Given the description of an element on the screen output the (x, y) to click on. 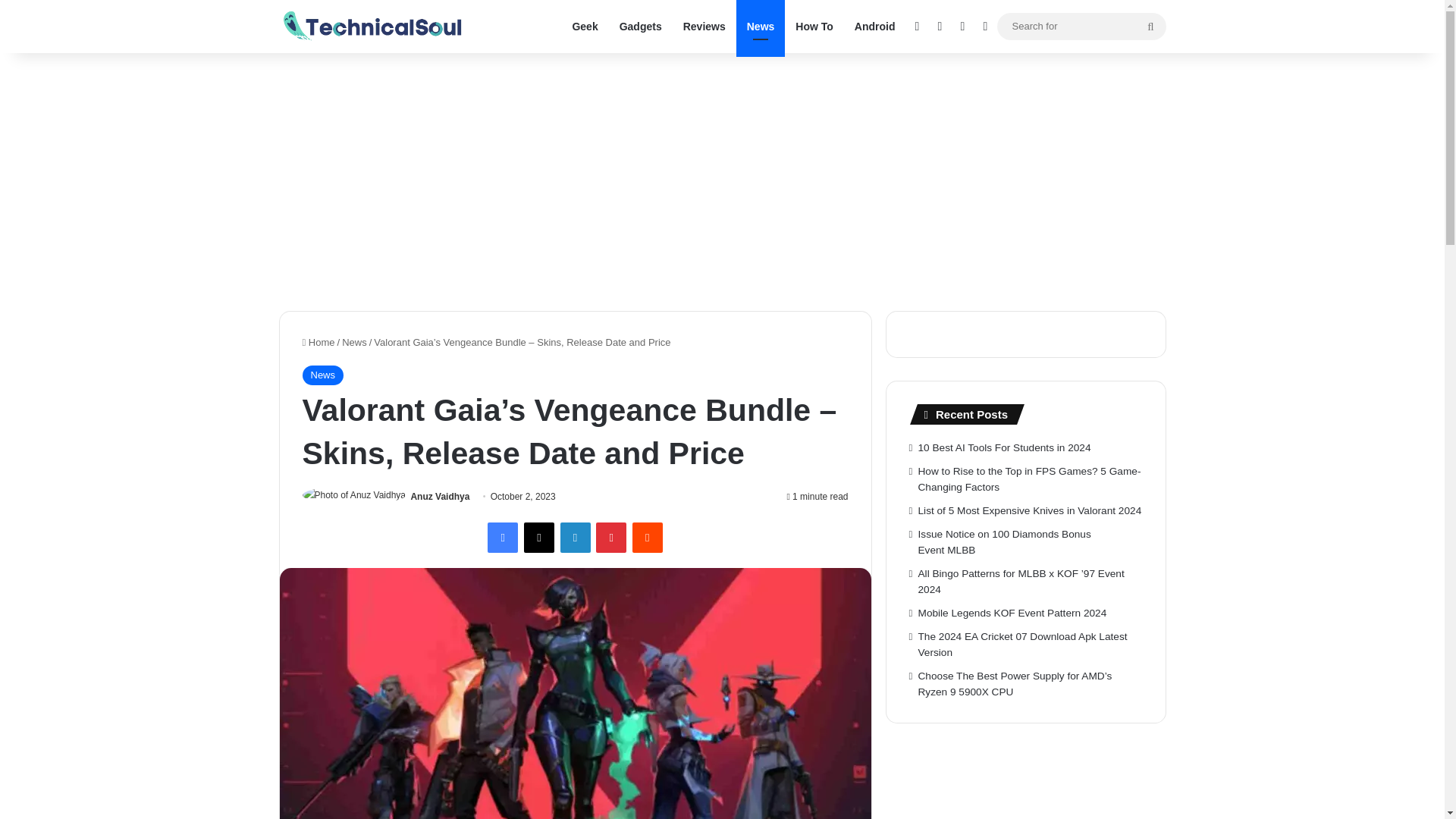
Anuz Vaidhya (439, 496)
X (539, 537)
News (322, 374)
Search for (1150, 26)
Facebook (502, 537)
Pinterest (610, 537)
Pinterest (610, 537)
How To (814, 26)
Reddit (646, 537)
Anuz Vaidhya (439, 496)
